Given the description of an element on the screen output the (x, y) to click on. 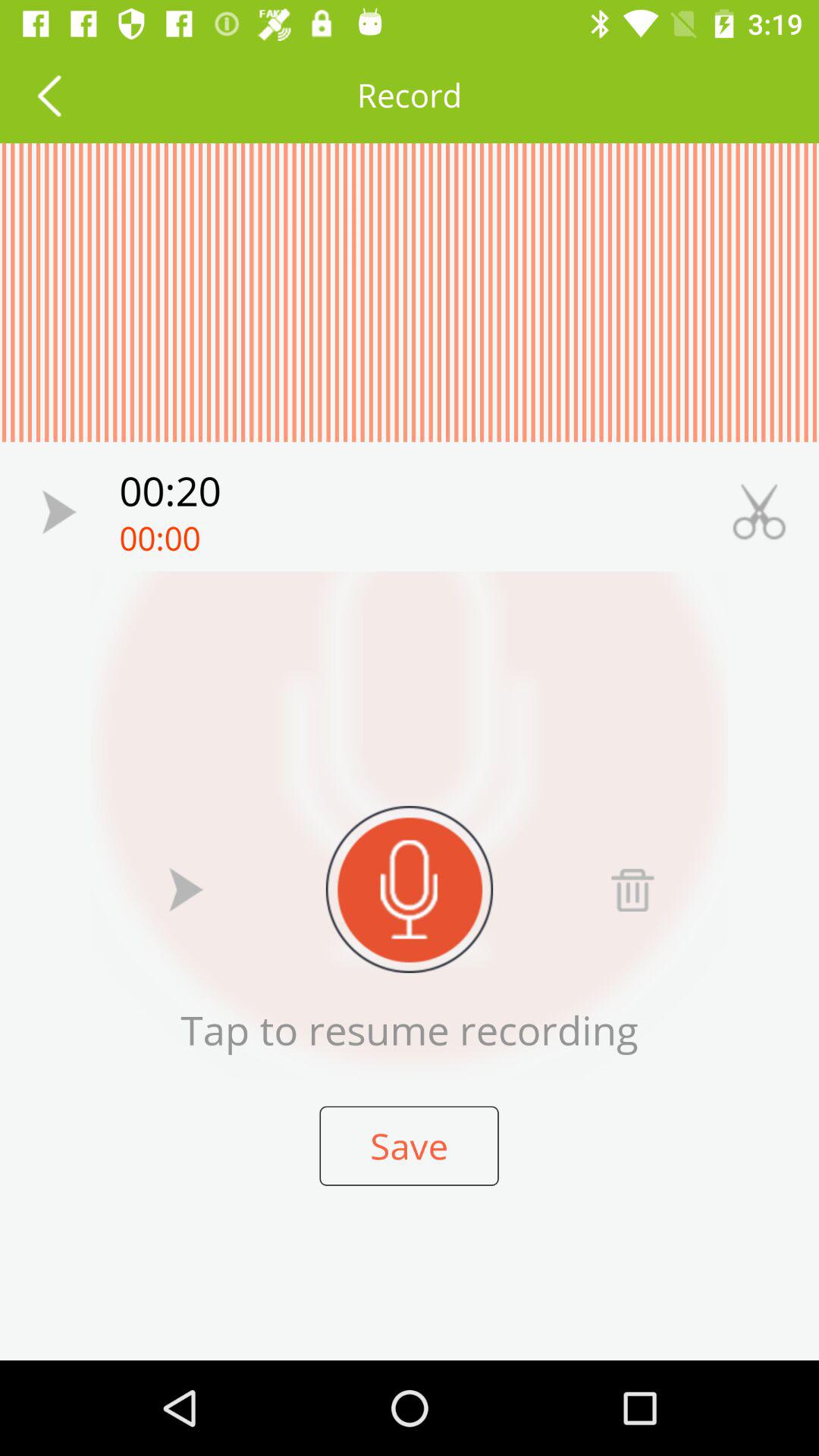
play clip (59, 511)
